Given the description of an element on the screen output the (x, y) to click on. 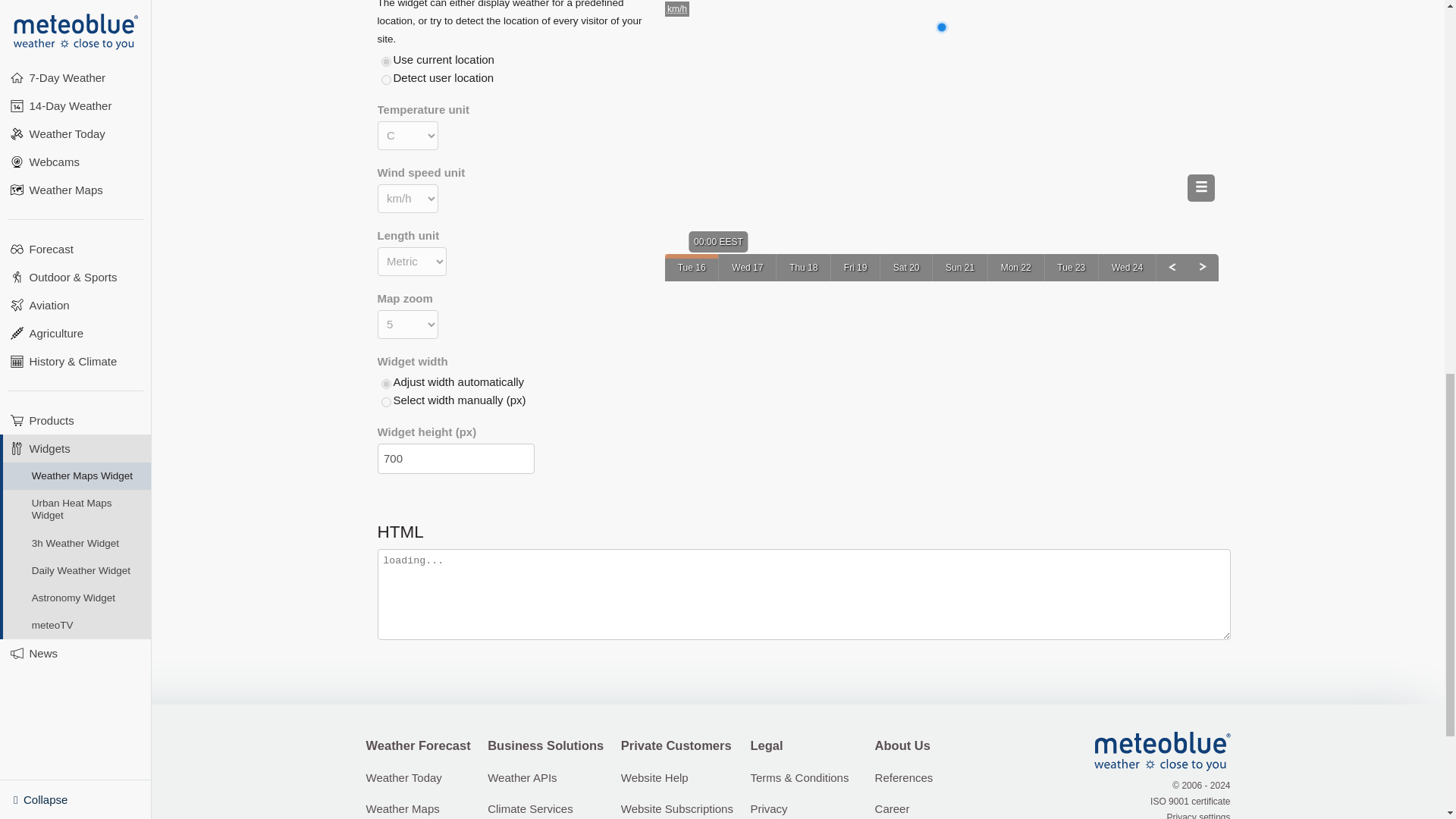
700 (455, 458)
fixed (385, 61)
auto (385, 384)
meteoblue (1161, 751)
detect (385, 80)
manu (385, 402)
